Given the description of an element on the screen output the (x, y) to click on. 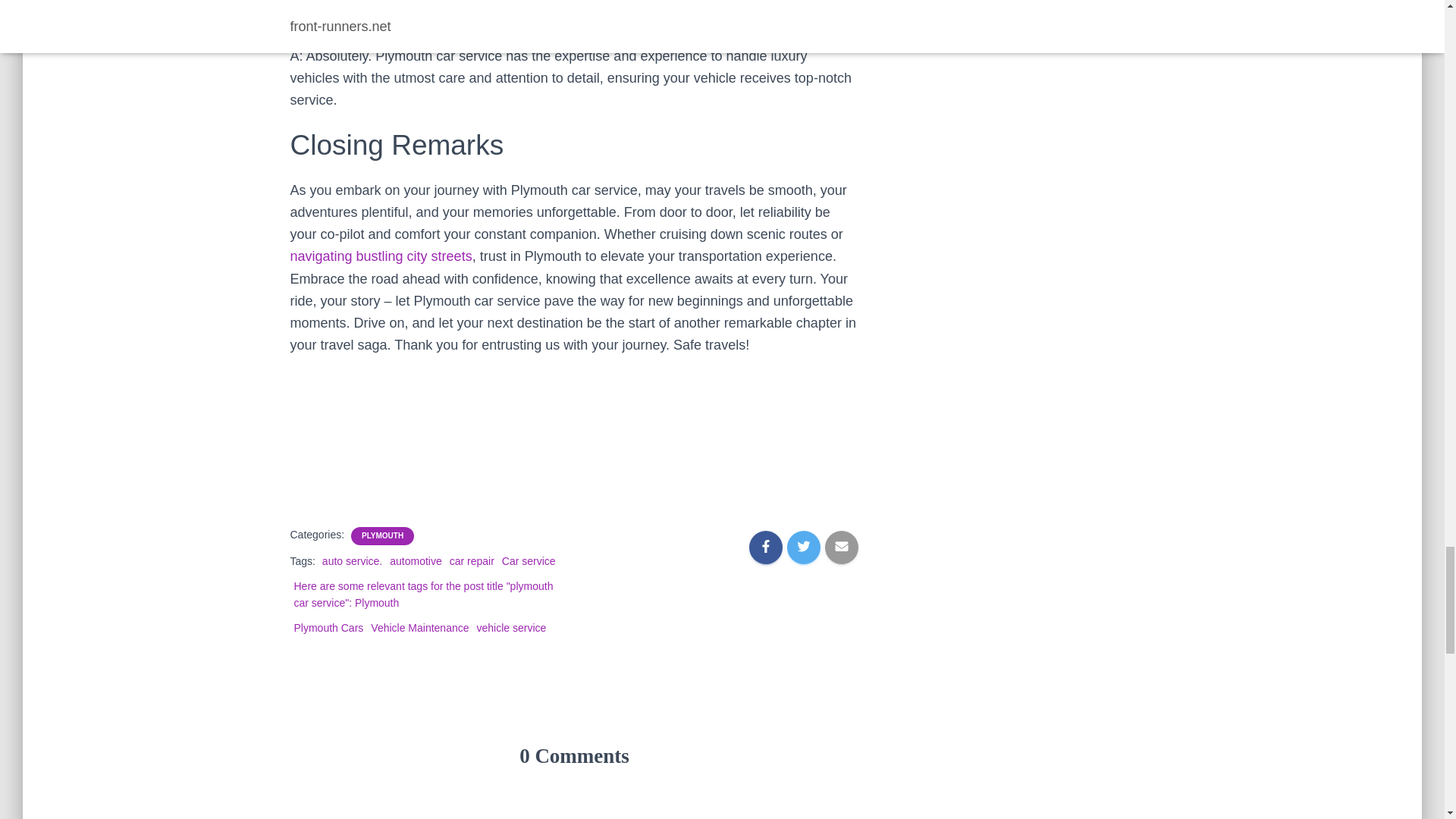
Vehicle Maintenance (419, 627)
dodge cars europe (380, 255)
auto service. (351, 561)
vehicle service (512, 627)
PLYMOUTH (381, 535)
Plymouth Cars (329, 627)
navigating bustling city streets (380, 255)
automotive (415, 561)
Car service (529, 561)
car repair (472, 561)
